Given the description of an element on the screen output the (x, y) to click on. 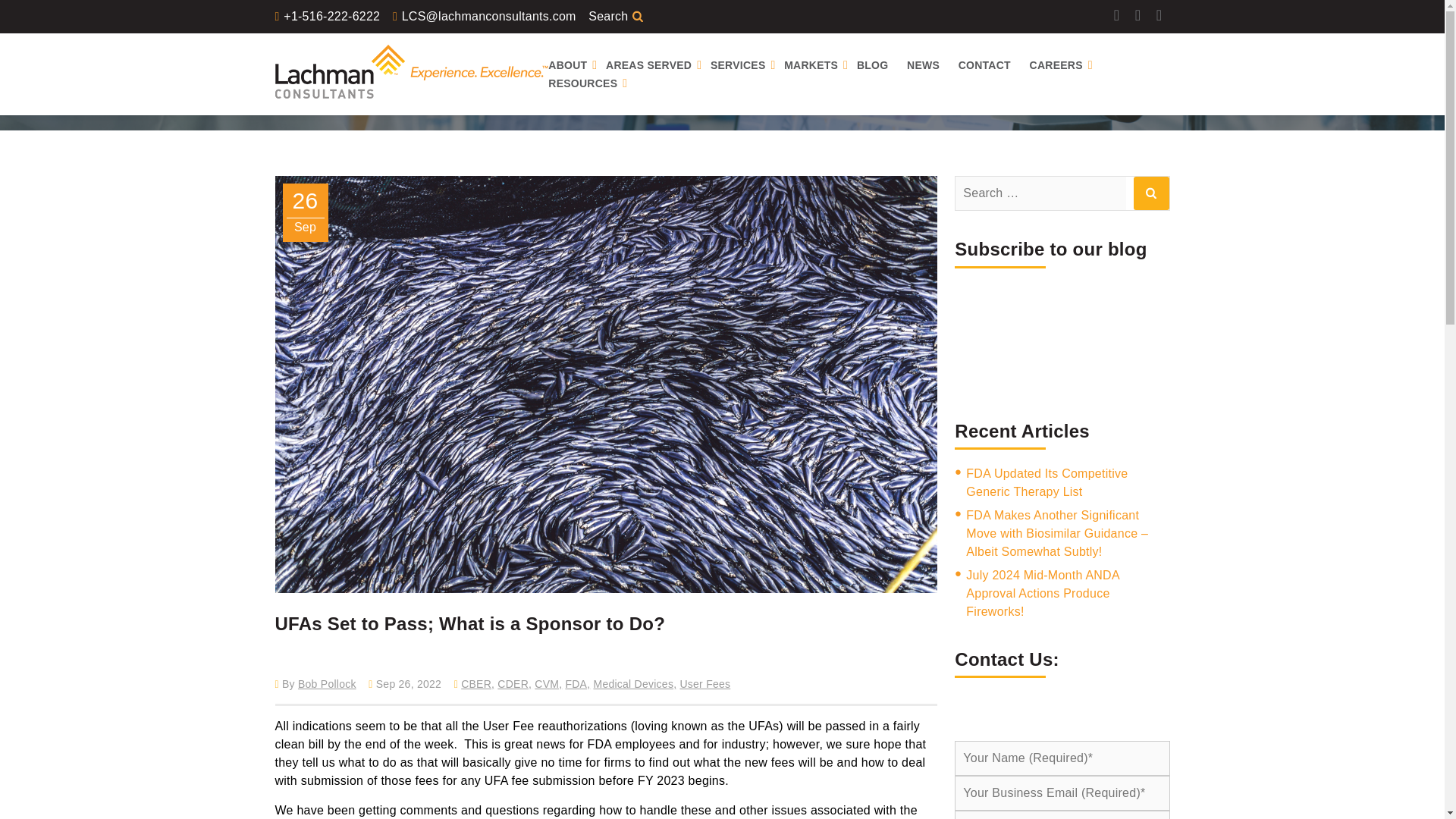
Search (636, 16)
Posts by Bob Pollock (327, 684)
Search (636, 16)
Go to Blog. (499, 86)
Form 0 (1062, 342)
ABOUT (575, 64)
Search (636, 16)
Search (1150, 192)
Go to Lachman Consultant Services, Inc.. (379, 86)
Go to the CBER category archives. (539, 86)
MARKETS (818, 64)
AREAS SERVED (655, 64)
SERVICES (745, 64)
Search (1150, 192)
